Given the description of an element on the screen output the (x, y) to click on. 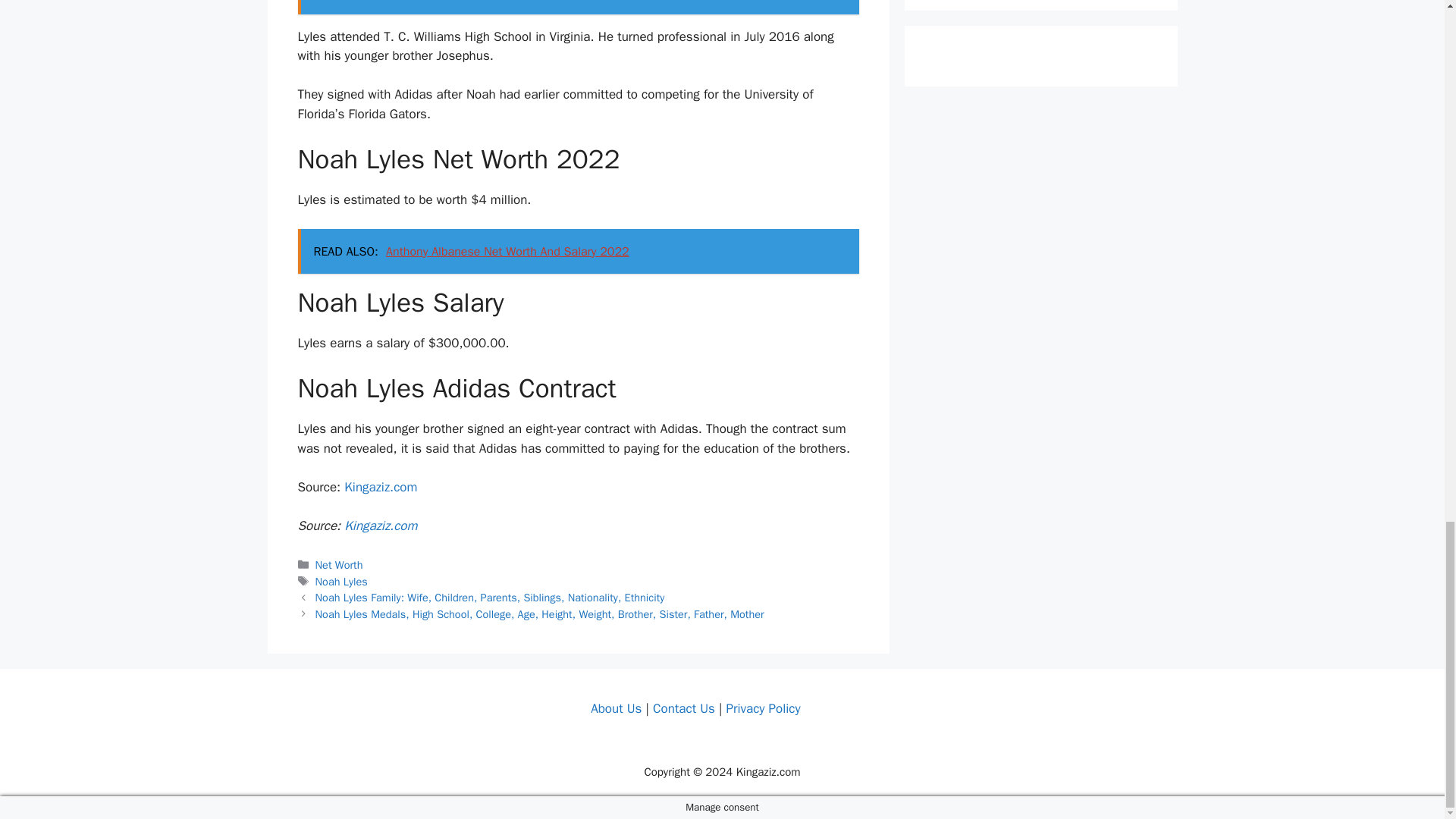
READ ALSO:  Anthony Albanese Net Worth And Salary 2022 (578, 251)
Privacy Policy (762, 708)
Net Worth (338, 564)
Contact Us (683, 708)
Noah Lyles (341, 581)
Kingaziz.com (379, 525)
READ ALSO:  Liz Cheney Husband Net Worth (578, 7)
Kingaziz.com (379, 487)
About Us (616, 708)
